Given the description of an element on the screen output the (x, y) to click on. 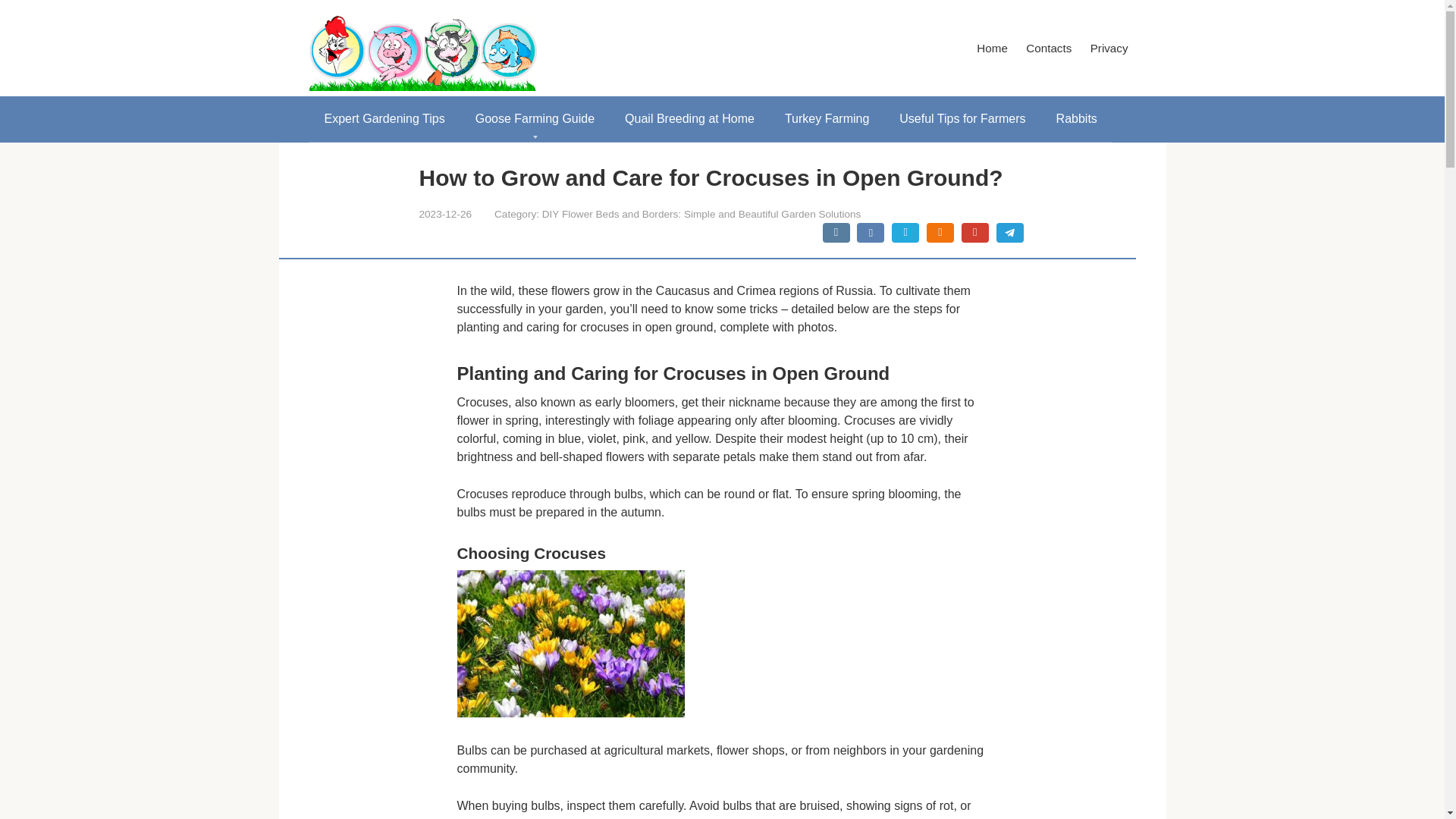
Privacy (1109, 47)
Goose Farming Guide (535, 118)
Rabbits (1076, 118)
Home (991, 47)
Quail Breeding at Home (690, 118)
Expert Gardening Tips (384, 118)
Useful Tips for Farmers (962, 118)
Turkey Farming (826, 118)
